Given the description of an element on the screen output the (x, y) to click on. 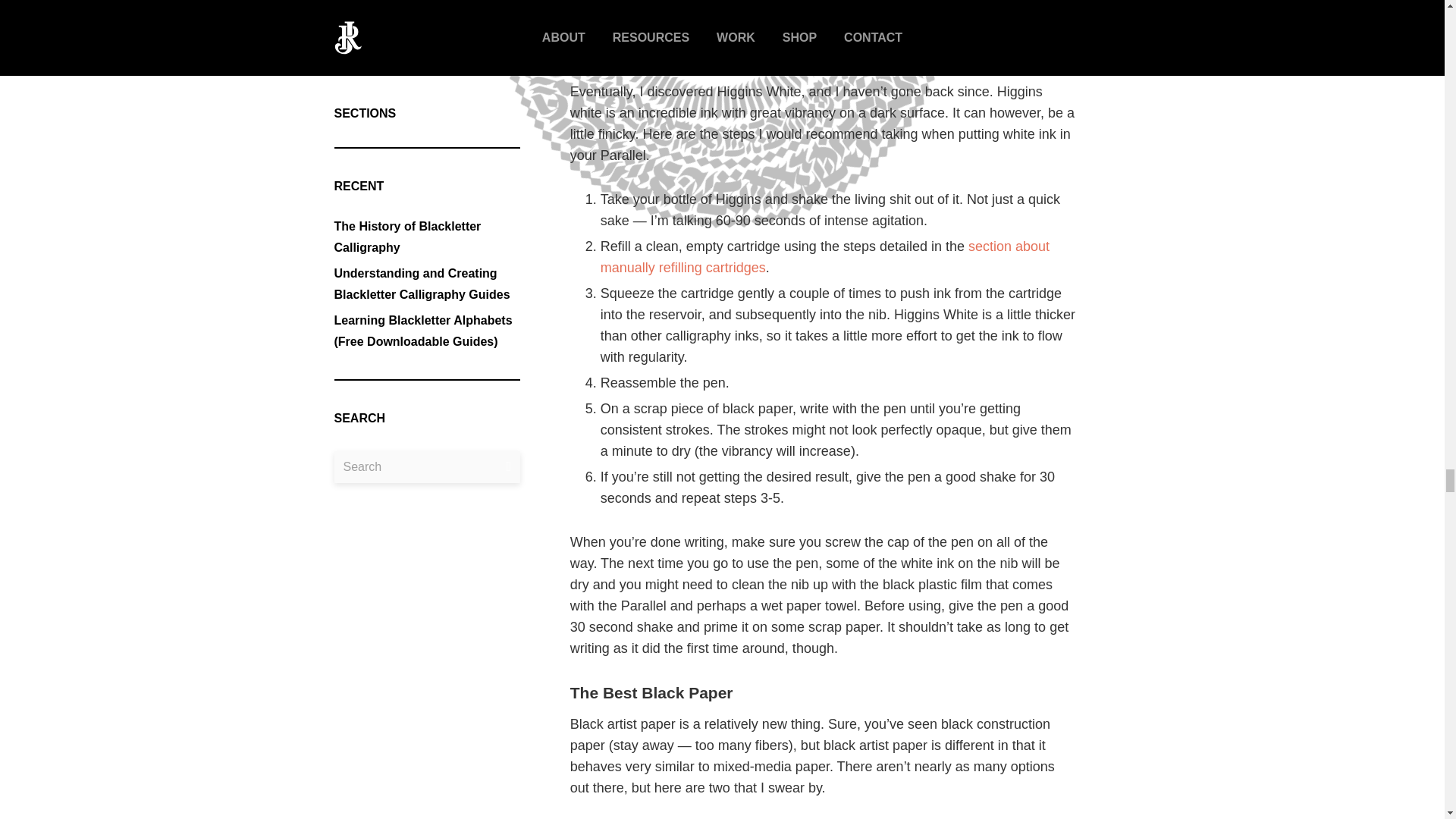
section about manually refilling cartridges (824, 257)
